Given the description of an element on the screen output the (x, y) to click on. 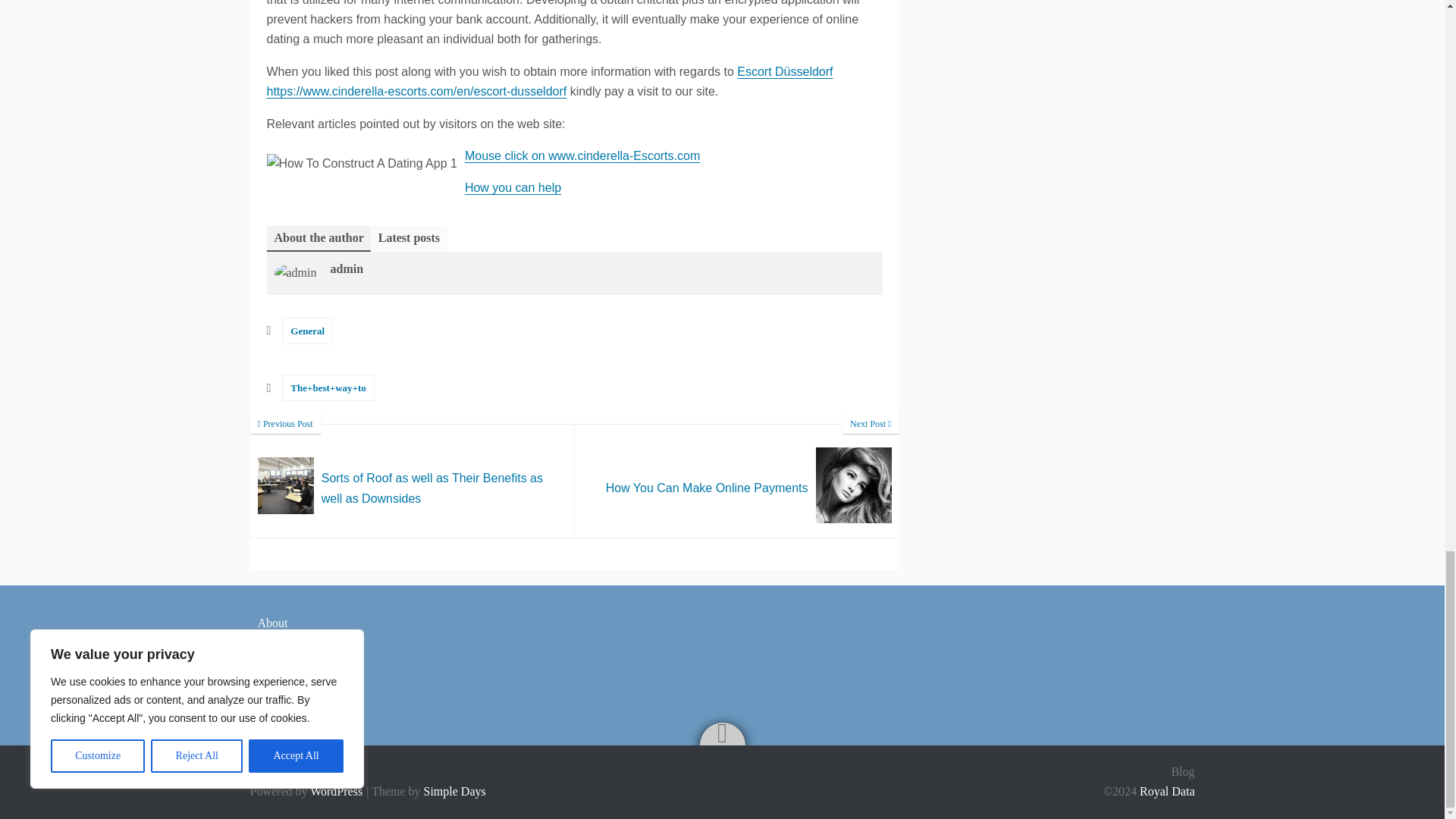
Mouse click on www.cinderella-Escorts.com (582, 155)
How You Can Make Online Payments (737, 480)
How you can help (512, 187)
Sorts of Roof as well as Their Benefits as well as Downsides (412, 480)
General (307, 330)
